Given the description of an element on the screen output the (x, y) to click on. 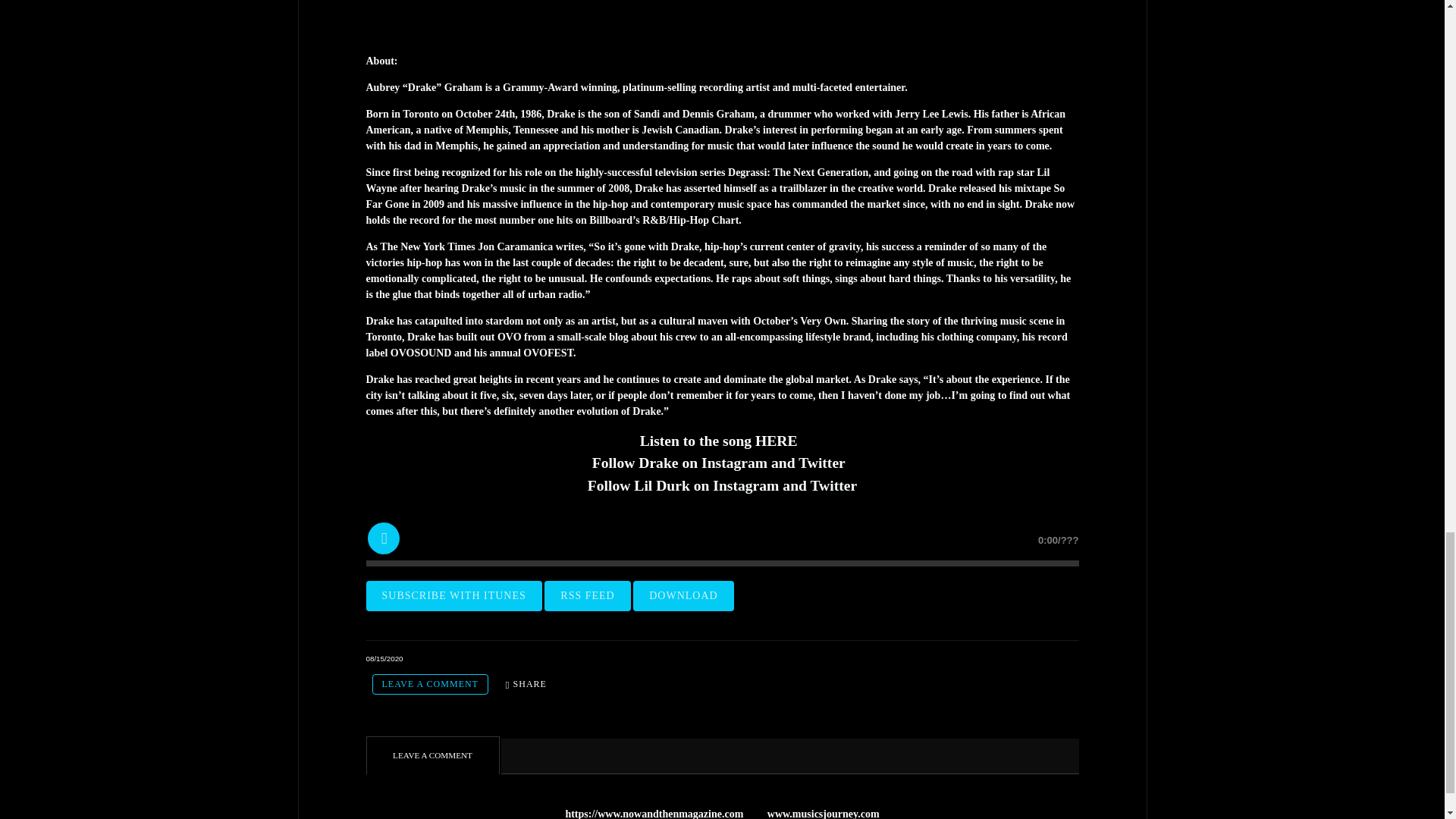
August 15, 2020 21:10 (384, 658)
Play (382, 537)
Leave a comment (429, 684)
